Given the description of an element on the screen output the (x, y) to click on. 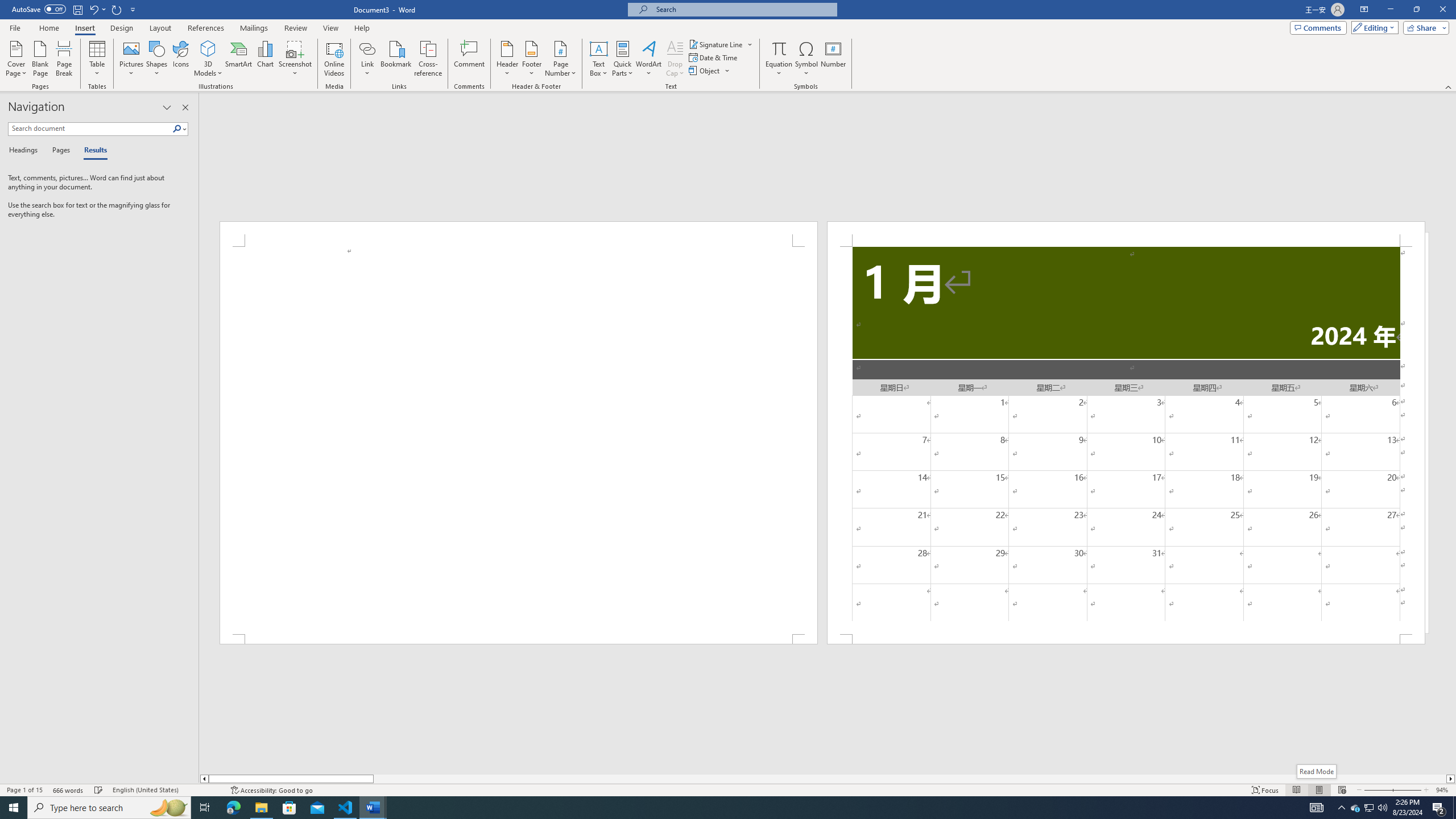
Comment (469, 58)
Footer -Section 1- (1126, 638)
Home (48, 28)
Bookmark... (396, 58)
Link (367, 58)
Page right (909, 778)
Object... (709, 69)
Class: NetUIImage (177, 128)
More Options (778, 68)
Task Pane Options (167, 107)
Symbol (806, 58)
3D Models (208, 48)
Read Mode (1296, 790)
3D Models (208, 58)
Quick Access Toolbar (74, 9)
